Given the description of an element on the screen output the (x, y) to click on. 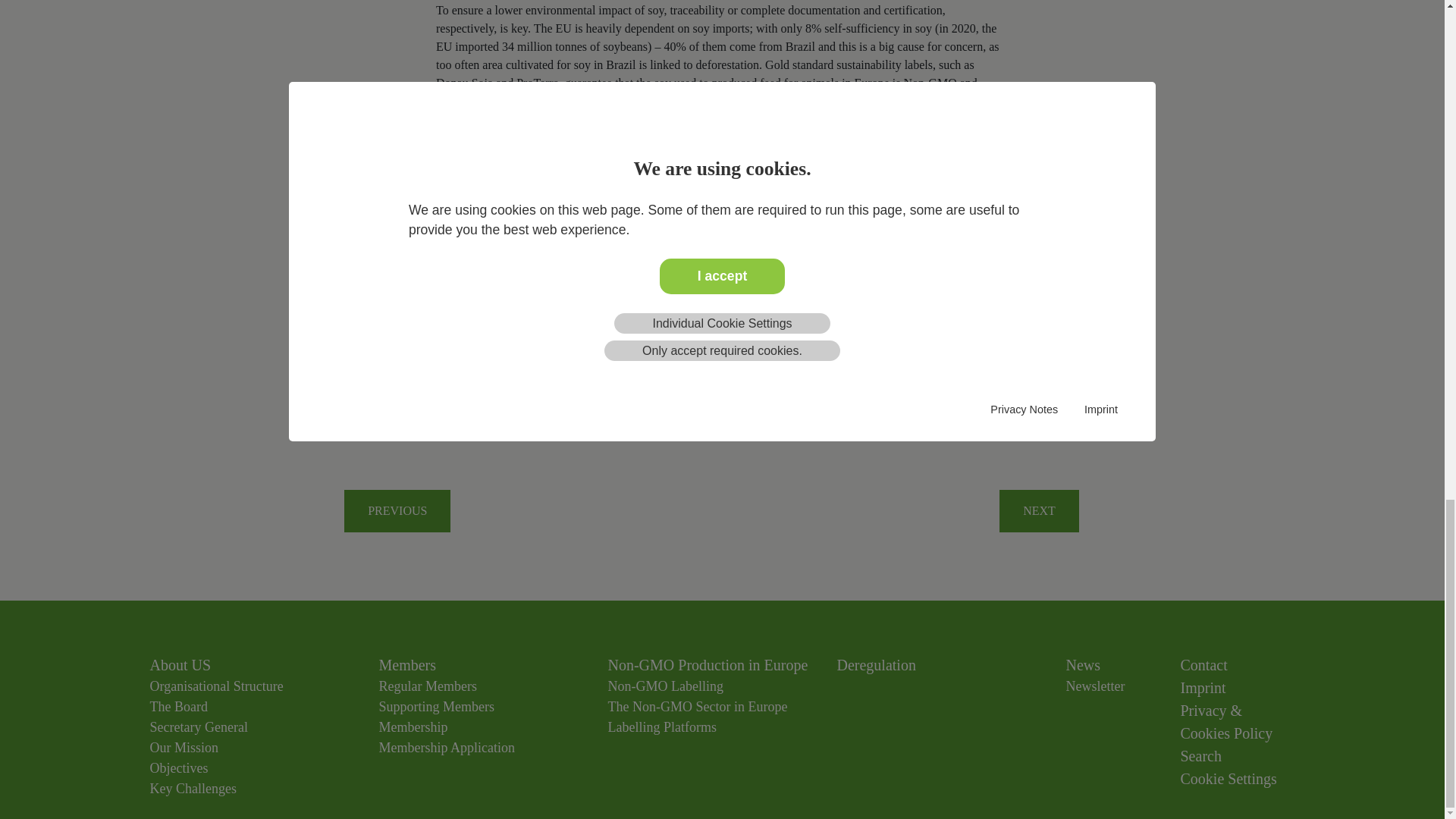
Organisational Structure (216, 685)
Boom year for Non-GMO soy bean crop in Brazil (1038, 510)
About US (180, 664)
Organisational Structure (216, 685)
The Board (178, 706)
NEXT (1038, 510)
The Board (178, 706)
PREVIOUS (396, 510)
